Given the description of an element on the screen output the (x, y) to click on. 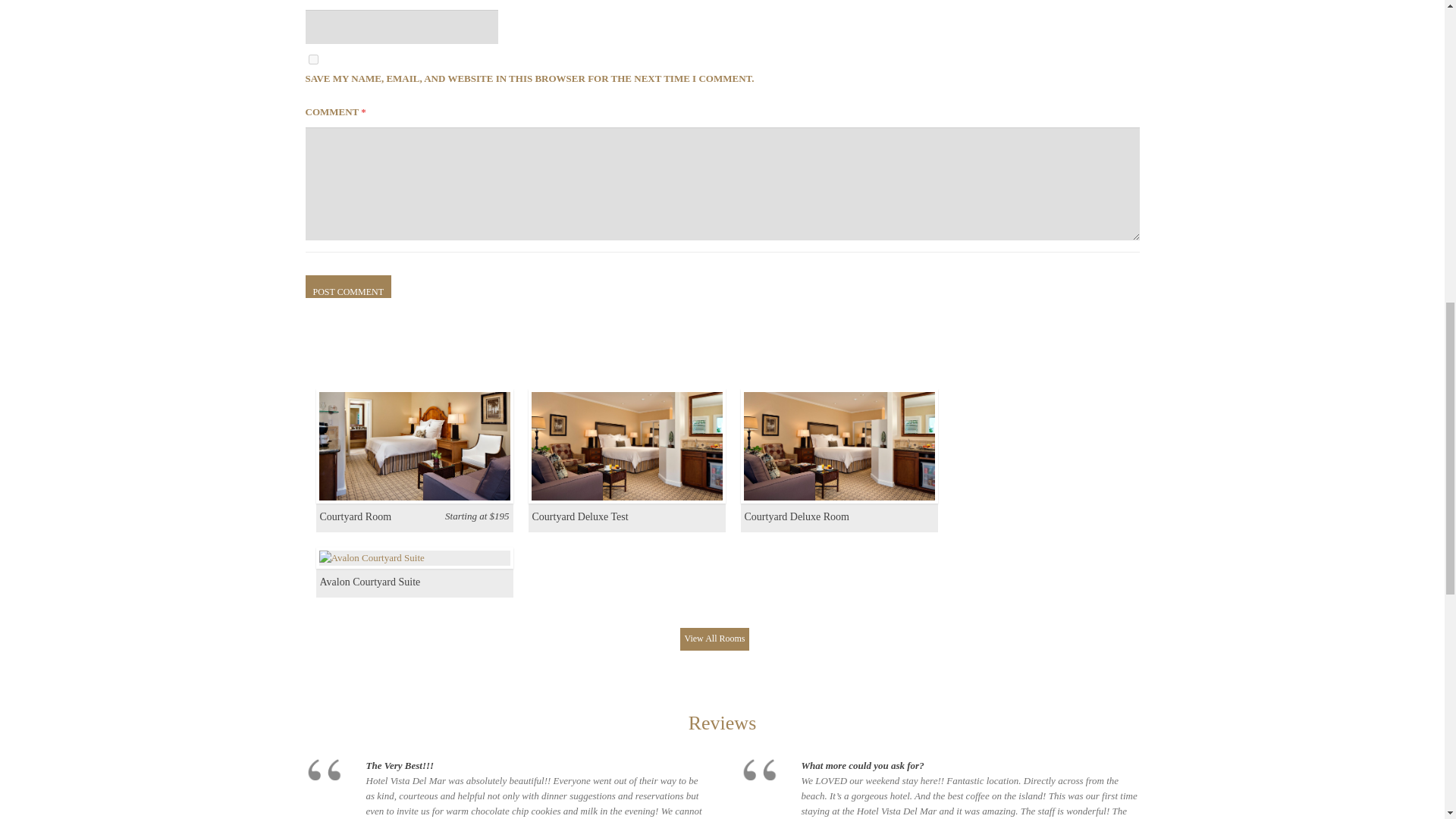
yes (312, 59)
Post Comment (347, 286)
